Given the description of an element on the screen output the (x, y) to click on. 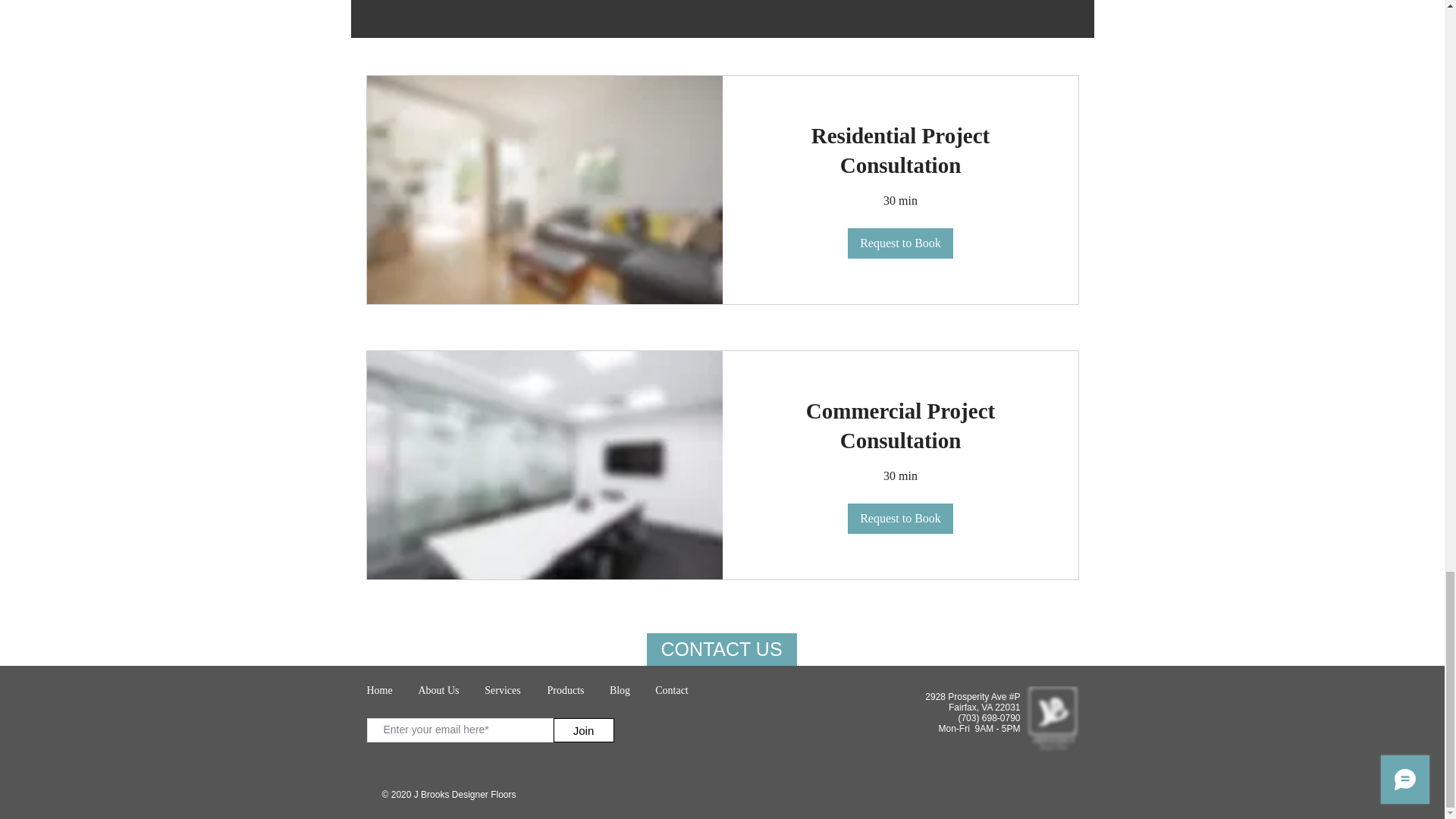
About Us (437, 690)
Commercial Project Consultation (900, 425)
Request to Book (900, 243)
Request to Book (900, 518)
Join (583, 730)
Home (378, 690)
Services (501, 690)
Blog (619, 690)
CONTACT US (721, 649)
Contact (671, 690)
Products (566, 690)
Residential Project Consultation (900, 150)
